Given the description of an element on the screen output the (x, y) to click on. 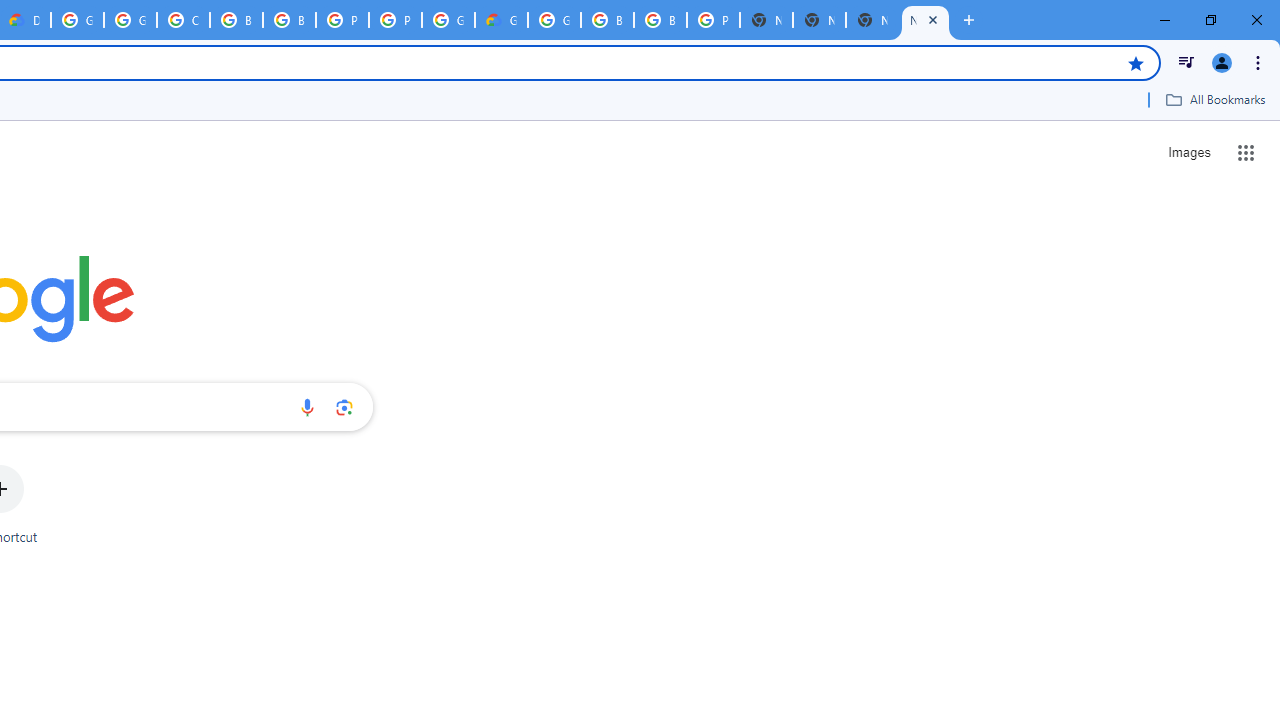
Browse Chrome as a guest - Computer - Google Chrome Help (289, 20)
Google Cloud Platform (554, 20)
Browse Chrome as a guest - Computer - Google Chrome Help (235, 20)
Search for Images  (1188, 152)
Google Cloud Estimate Summary (501, 20)
Browse Chrome as a guest - Computer - Google Chrome Help (607, 20)
Search by image (344, 407)
Browse Chrome as a guest - Computer - Google Chrome Help (660, 20)
